Given the description of an element on the screen output the (x, y) to click on. 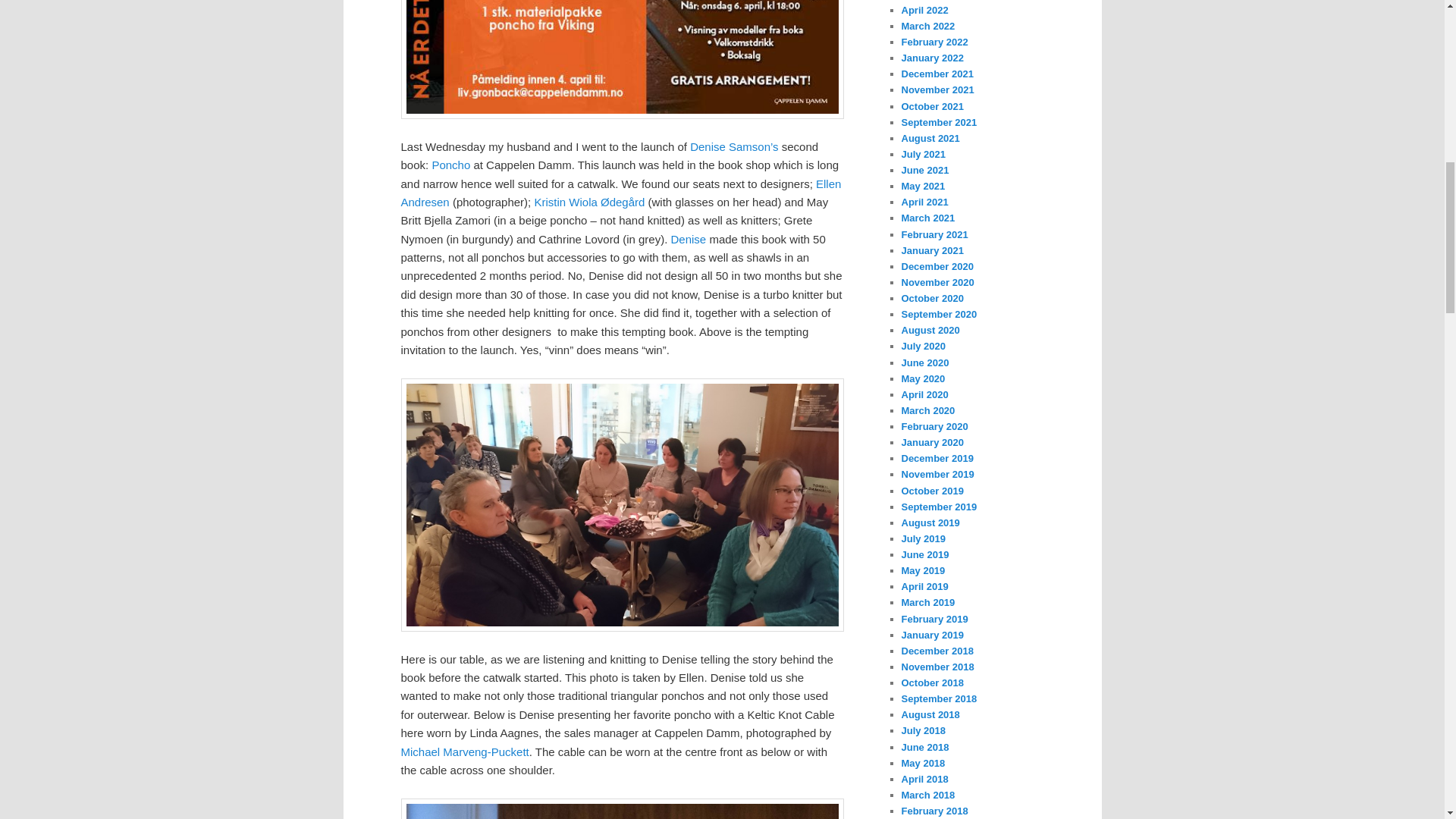
Michael Marveng-Puckett (464, 751)
Ellen Andresen (620, 192)
Poncho (450, 164)
Denise (688, 238)
